Given the description of an element on the screen output the (x, y) to click on. 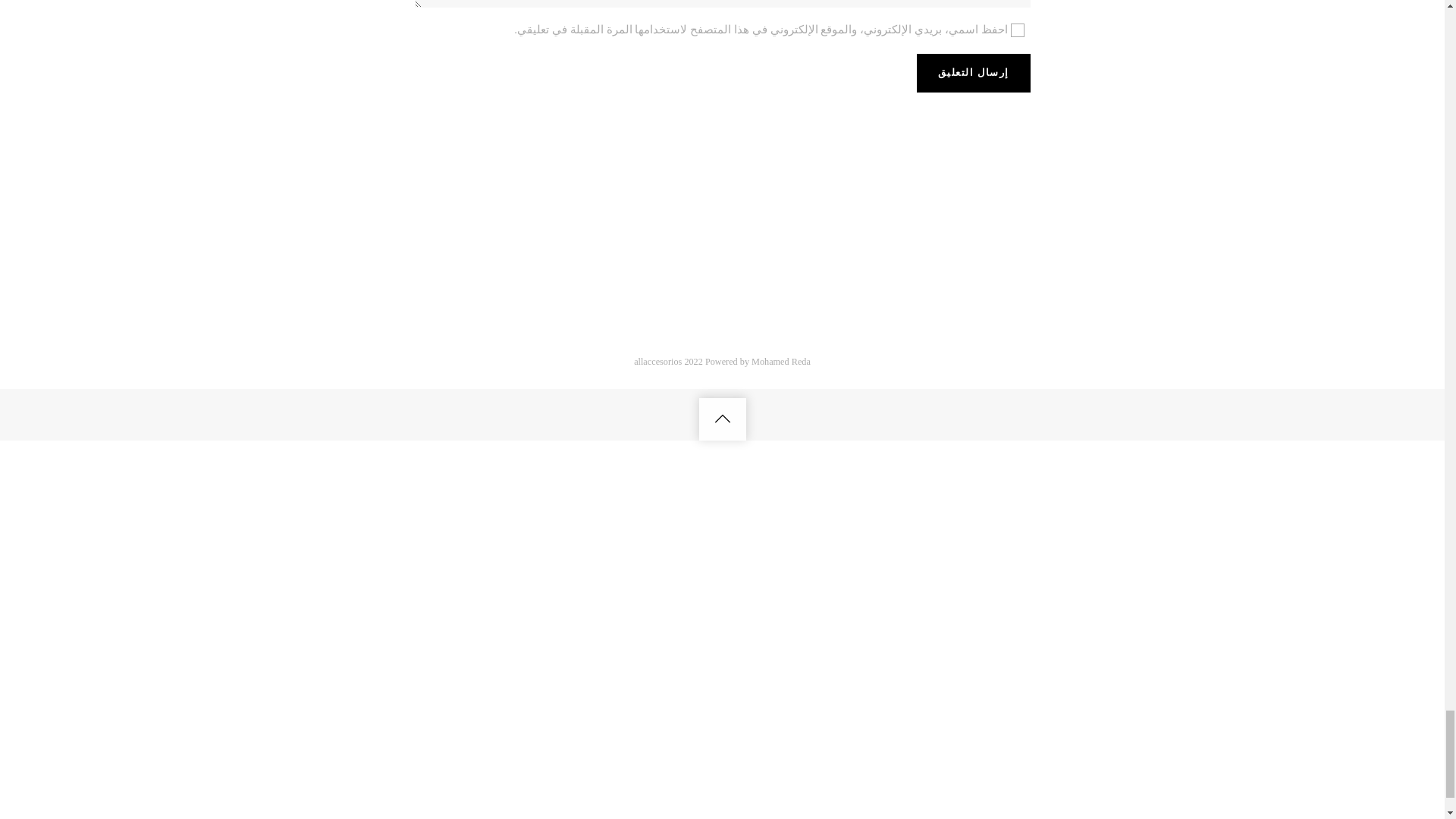
yes (1016, 29)
